Given the description of an element on the screen output the (x, y) to click on. 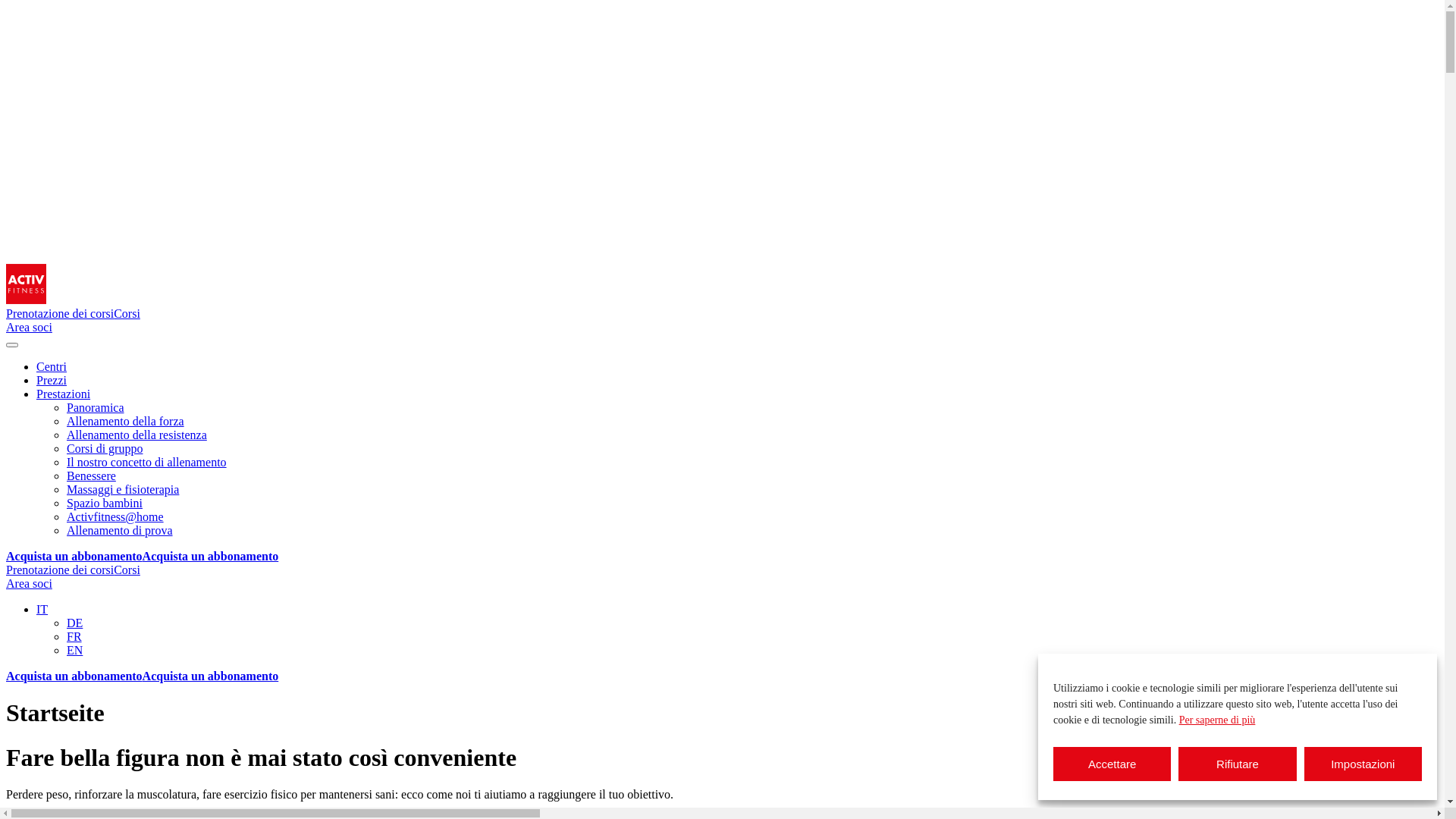
DE Element type: text (74, 622)
Accettare Element type: text (1111, 763)
EN Element type: text (74, 649)
IT Element type: text (41, 608)
Allenamento della forza Element type: text (125, 420)
Rifiutare Element type: text (1236, 763)
Impostazioni Element type: text (1362, 763)
Massaggi e fisioterapia Element type: text (122, 489)
Prezzi Element type: text (51, 379)
Allenamento della resistenza Element type: text (136, 434)
Corsi di gruppo Element type: text (104, 448)
Centri Element type: text (51, 366)
Prestazioni Element type: text (63, 393)
Spazio bambini Element type: text (104, 502)
Activfitness@home Element type: text (114, 516)
Prenotazione dei corsiCorsi Element type: text (73, 569)
Acquista un abbonamentoAcquista un abbonamento Element type: text (142, 555)
Acquista un abbonamentoAcquista un abbonamento Element type: text (142, 675)
FR Element type: text (73, 636)
Area soci Element type: text (29, 326)
Homepage Element type: hover (26, 299)
Prenotazione dei corsiCorsi Element type: text (73, 313)
Il nostro concetto di allenamento Element type: text (146, 461)
Area soci Element type: text (29, 583)
Allenamento di prova Element type: text (119, 530)
Benessere Element type: text (91, 475)
Panoramica Element type: text (95, 407)
